Given the description of an element on the screen output the (x, y) to click on. 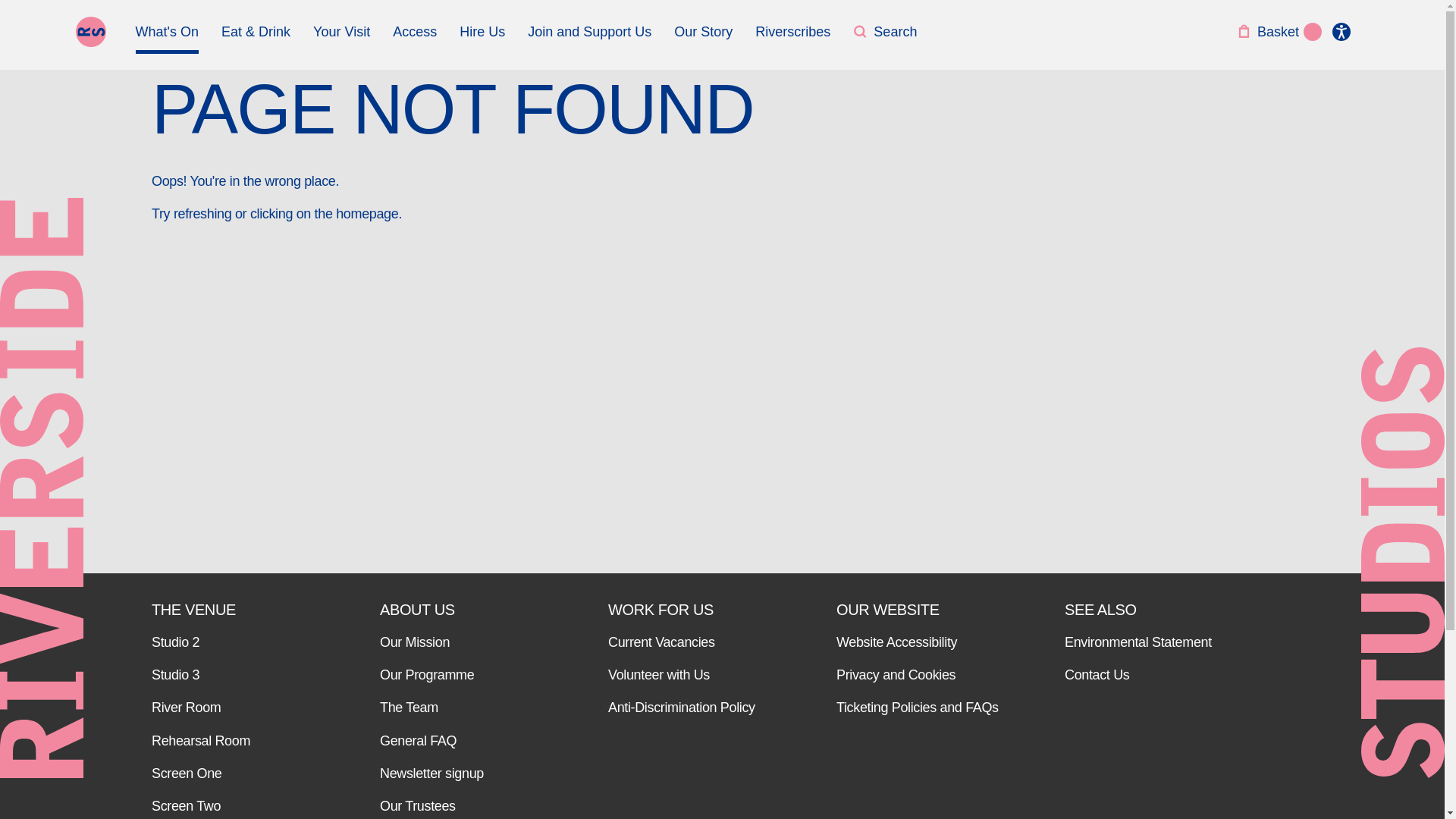
Riverside Studios Logo (90, 31)
Search (885, 37)
Studio 2 (234, 642)
Our Story (703, 37)
Studio 3 (234, 674)
Basket (1267, 37)
Hire Us (482, 37)
What's On (166, 37)
Access (414, 37)
Riverside Studios (90, 31)
